Given the description of an element on the screen output the (x, y) to click on. 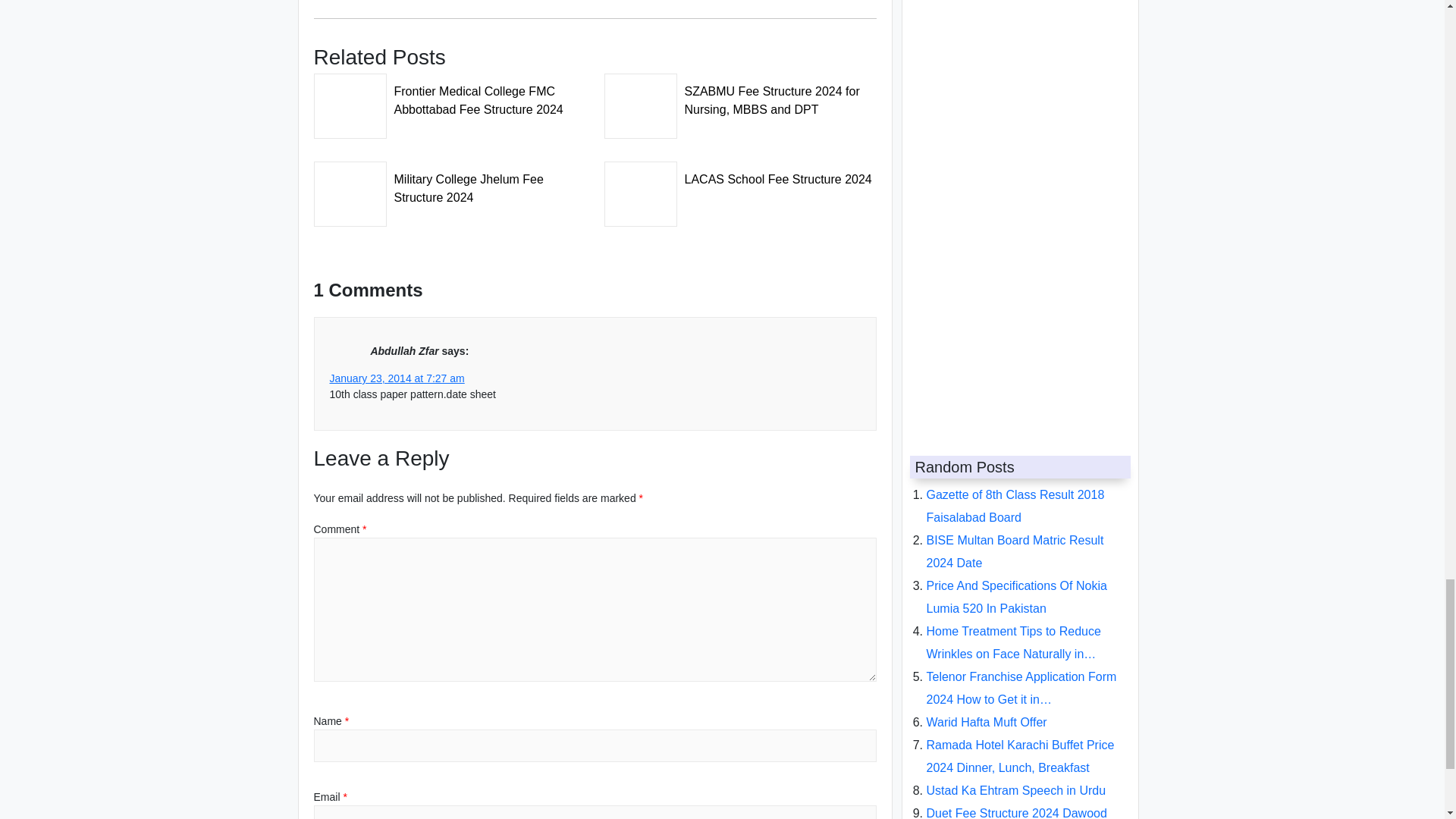
January 23, 2014 at 7:27 am (396, 378)
Military College Jhelum Fee Structure 2024 (450, 184)
SZABMU Fee Structure 2024 for Nursing, MBBS and DPT (740, 95)
LACAS School Fee Structure 2024 (740, 175)
Frontier Medical College FMC Abbottabad Fee Structure 2024 (450, 95)
